Given the description of an element on the screen output the (x, y) to click on. 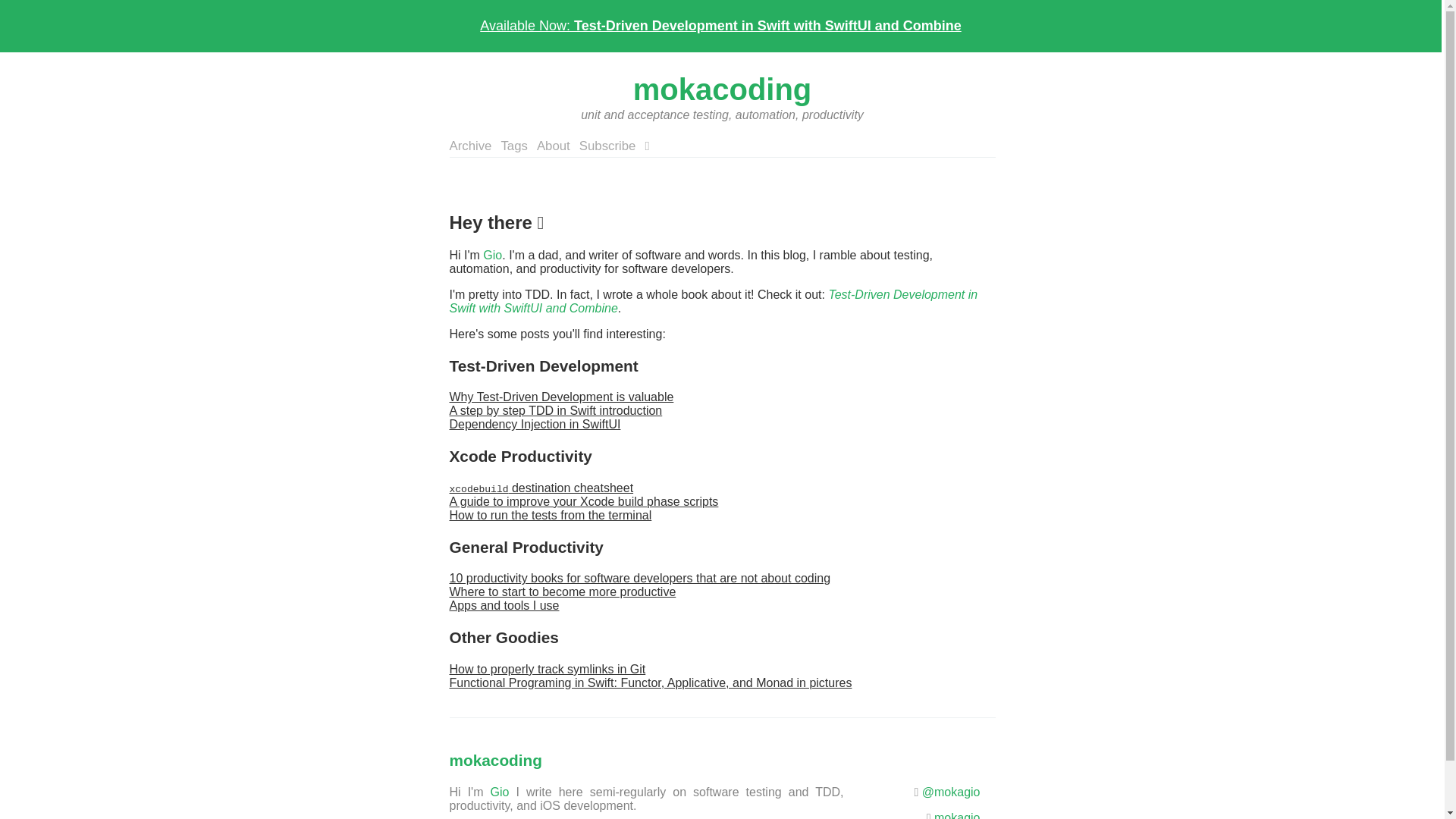
Dependency Injection in SwiftUI (534, 423)
Gio (492, 254)
Why Test-Driven Development is valuable (560, 396)
How to properly track symlinks in Git (546, 668)
Gio (498, 791)
Test-Driven Development in Swift with SwiftUI and Combine (712, 301)
Archive (470, 145)
A step by step TDD in Swift introduction (555, 410)
mokagio (956, 815)
A guide to improve your Xcode build phase scripts (582, 501)
